Given the description of an element on the screen output the (x, y) to click on. 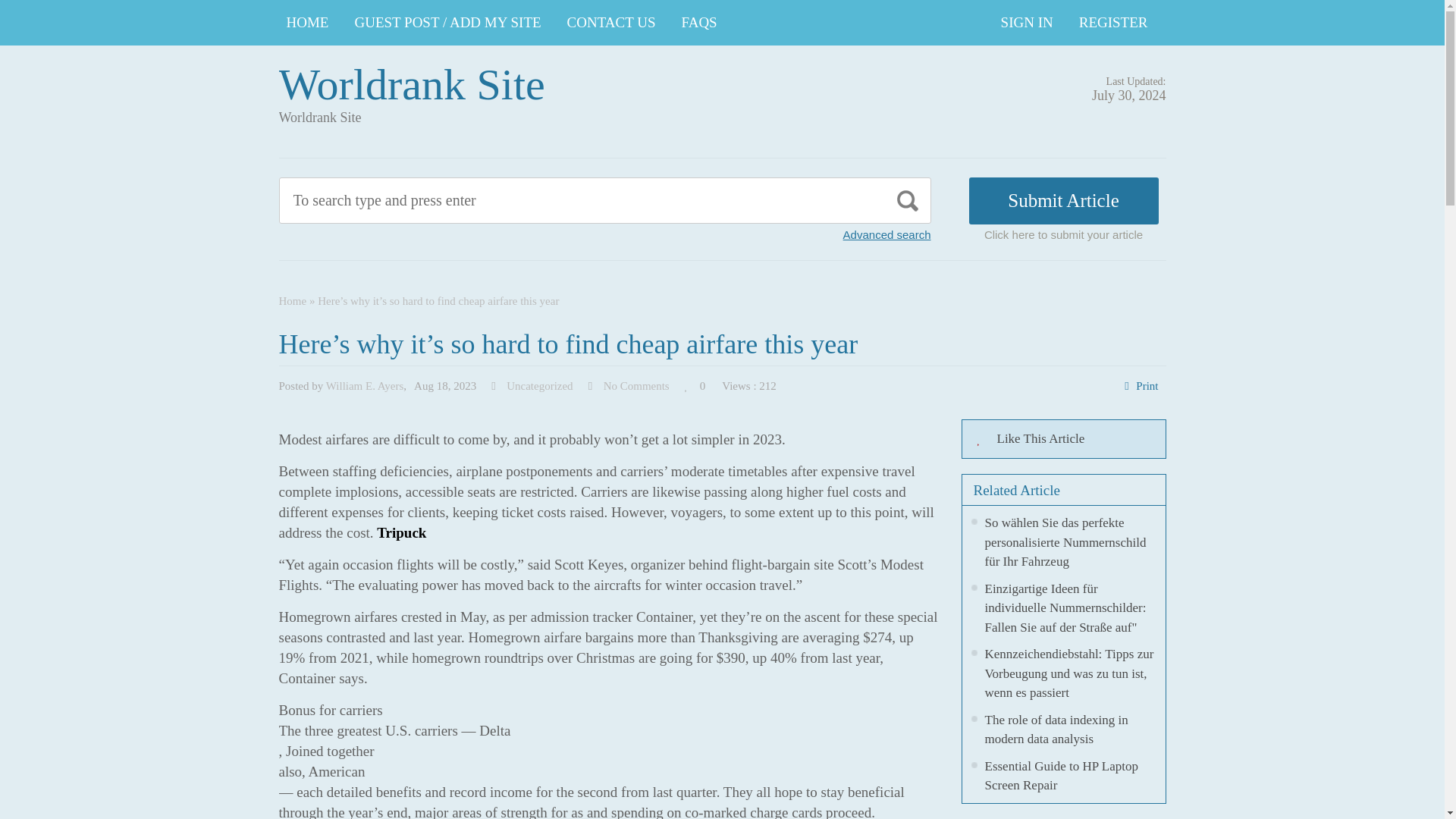
Submit Article (1063, 200)
Posts by William E. Ayers (365, 386)
Like This Article (1063, 438)
REGISTER (1113, 22)
Print (1146, 386)
The role of data indexing in modern data analysis (1055, 729)
SIGN IN (1026, 22)
Home (293, 300)
Worldrank Site (411, 83)
Advanced search (887, 234)
Essential Guide to HP Laptop Screen Repair (1060, 775)
FAQS (699, 22)
To search type and press enter (535, 200)
